Given the description of an element on the screen output the (x, y) to click on. 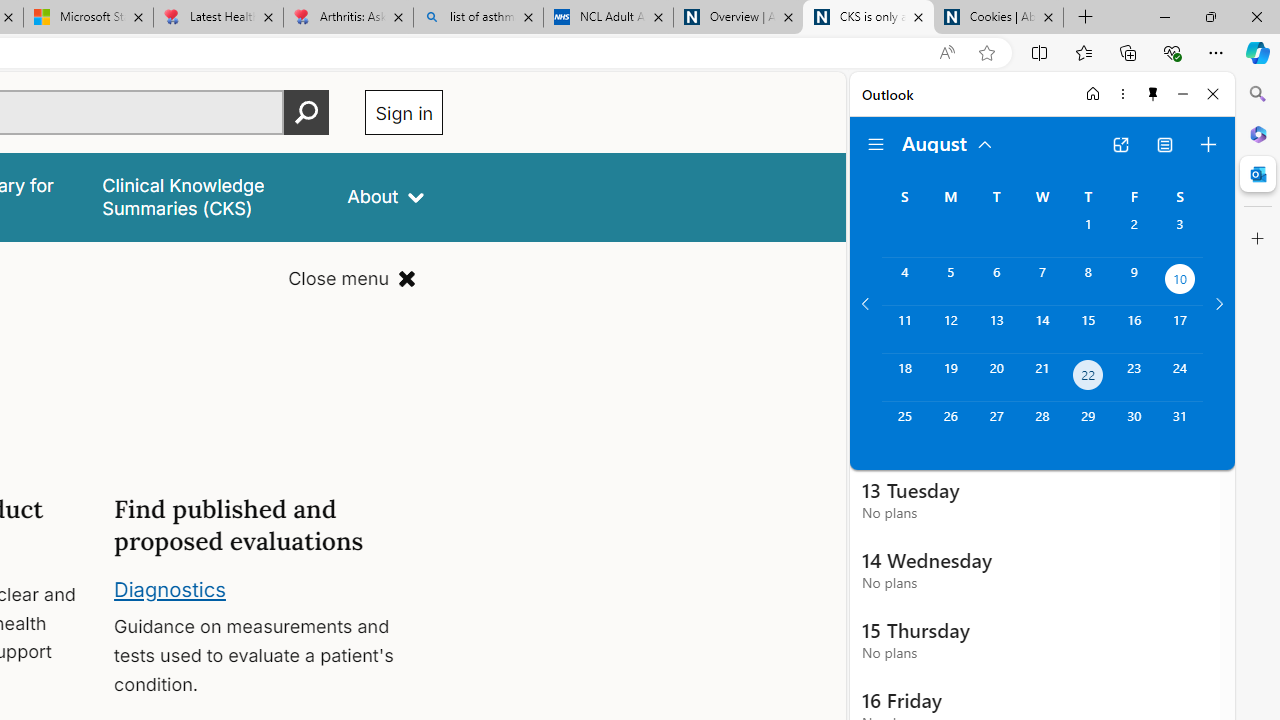
Wednesday, August 14, 2024.  (1042, 329)
Tuesday, August 13, 2024.  (996, 329)
